Given the description of an element on the screen output the (x, y) to click on. 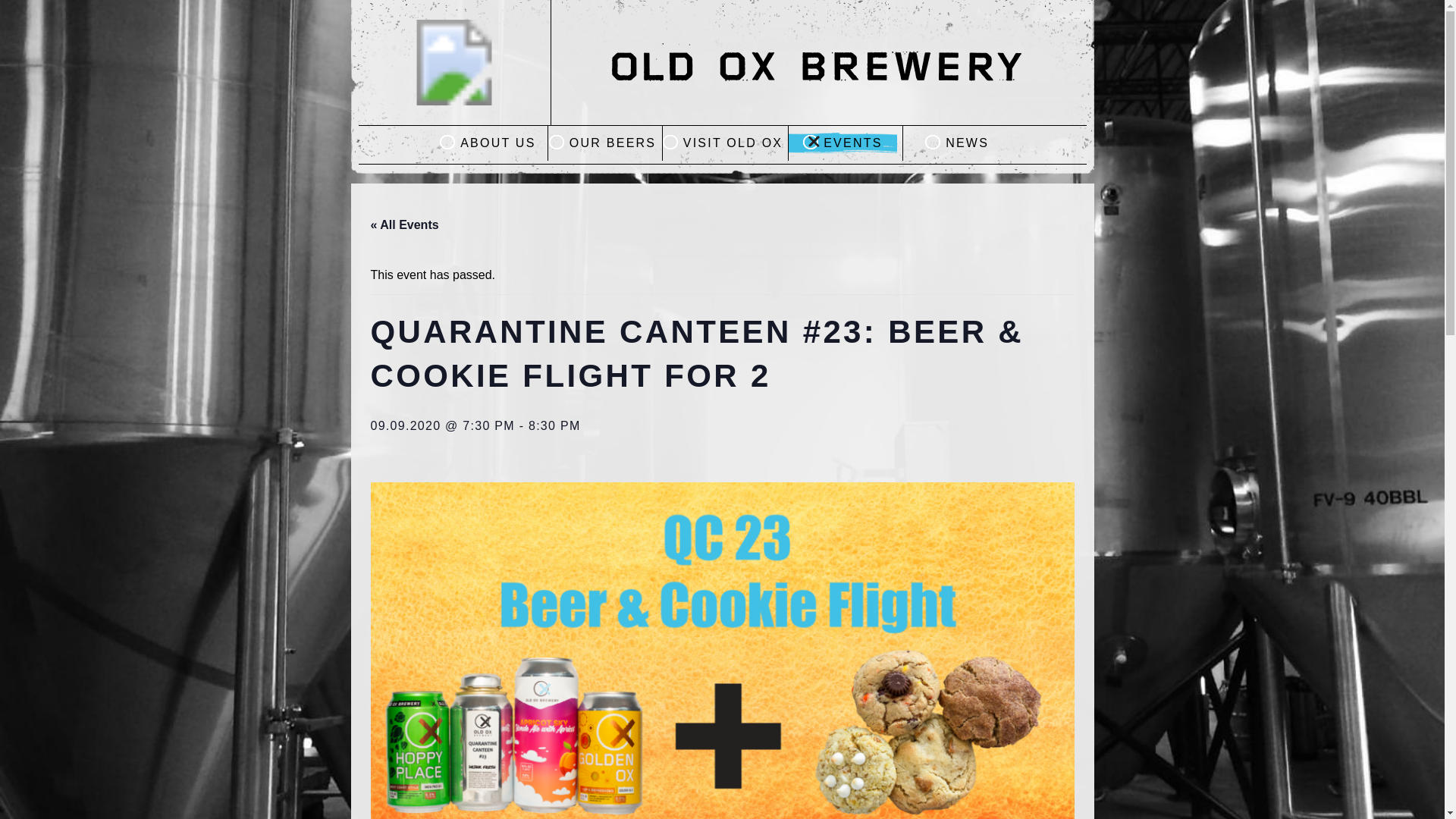
VISIT OLD OX (722, 142)
OUR BEERS (602, 142)
EVENTS (842, 142)
ABOUT US (487, 142)
NEWS (956, 142)
